Given the description of an element on the screen output the (x, y) to click on. 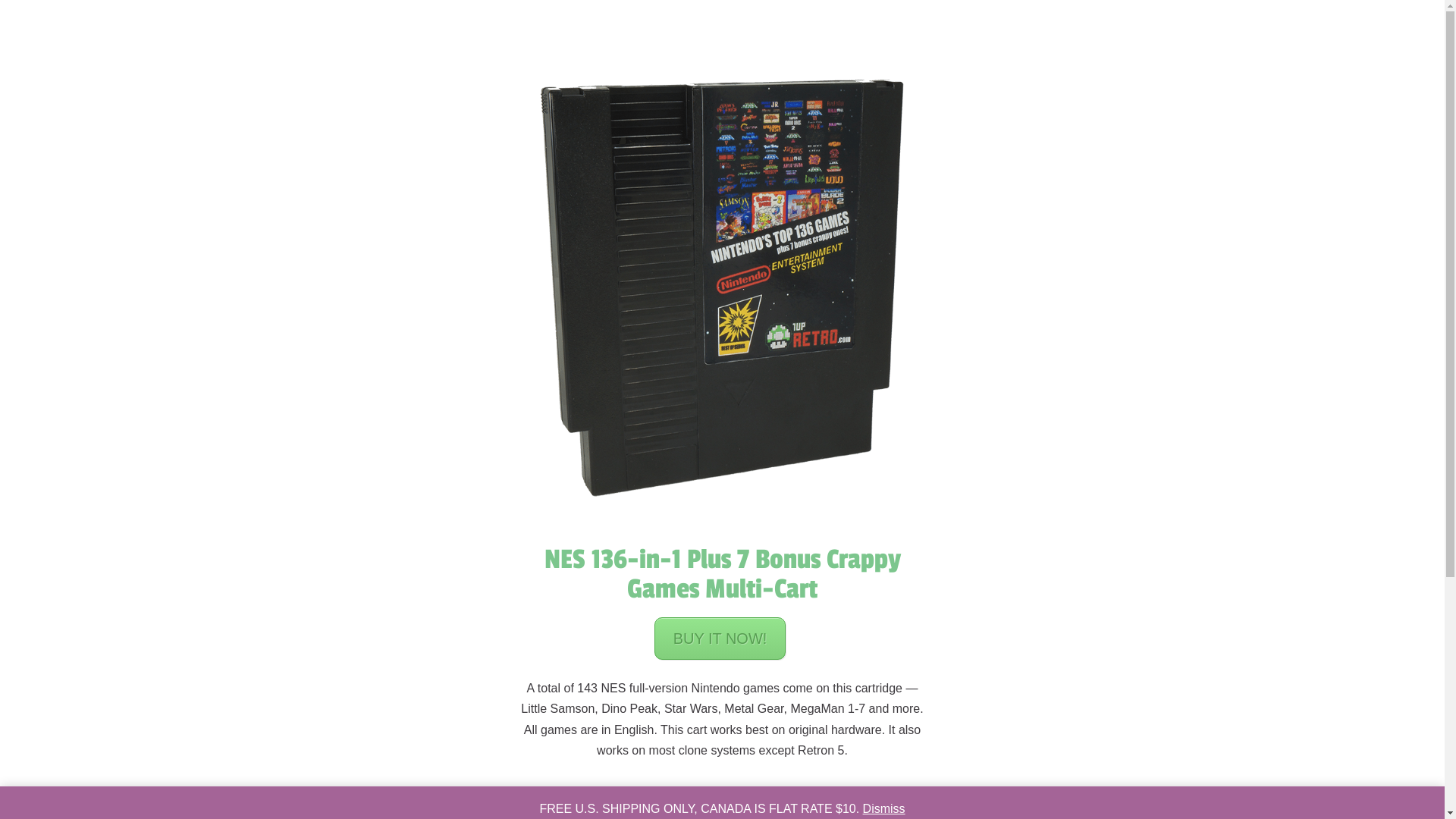
Dismiss Element type: text (883, 808)
BUY IT NOW! Element type: text (720, 638)
NES 136-in-1 Plus 7 Bonus Crappy Games Multi-Cart Element type: text (722, 573)
